Given the description of an element on the screen output the (x, y) to click on. 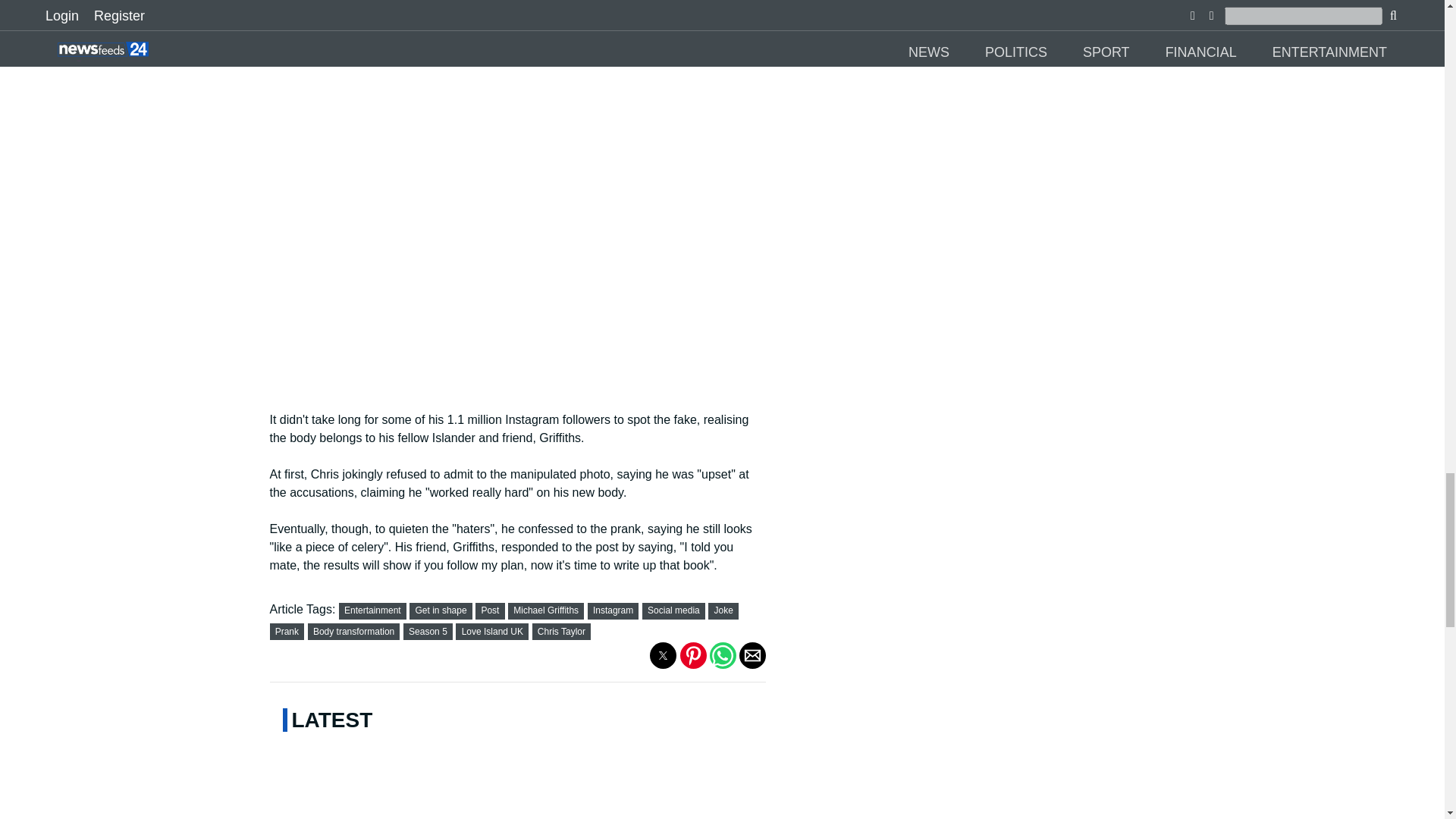
Post (489, 610)
Entertainment (372, 610)
Chris Taylor (561, 631)
Prank (286, 631)
Social media (673, 610)
Body transformation (353, 631)
Season 5 (427, 631)
Michael Griffiths (545, 610)
Love Island UK (491, 631)
Get in shape (440, 610)
